Given the description of an element on the screen output the (x, y) to click on. 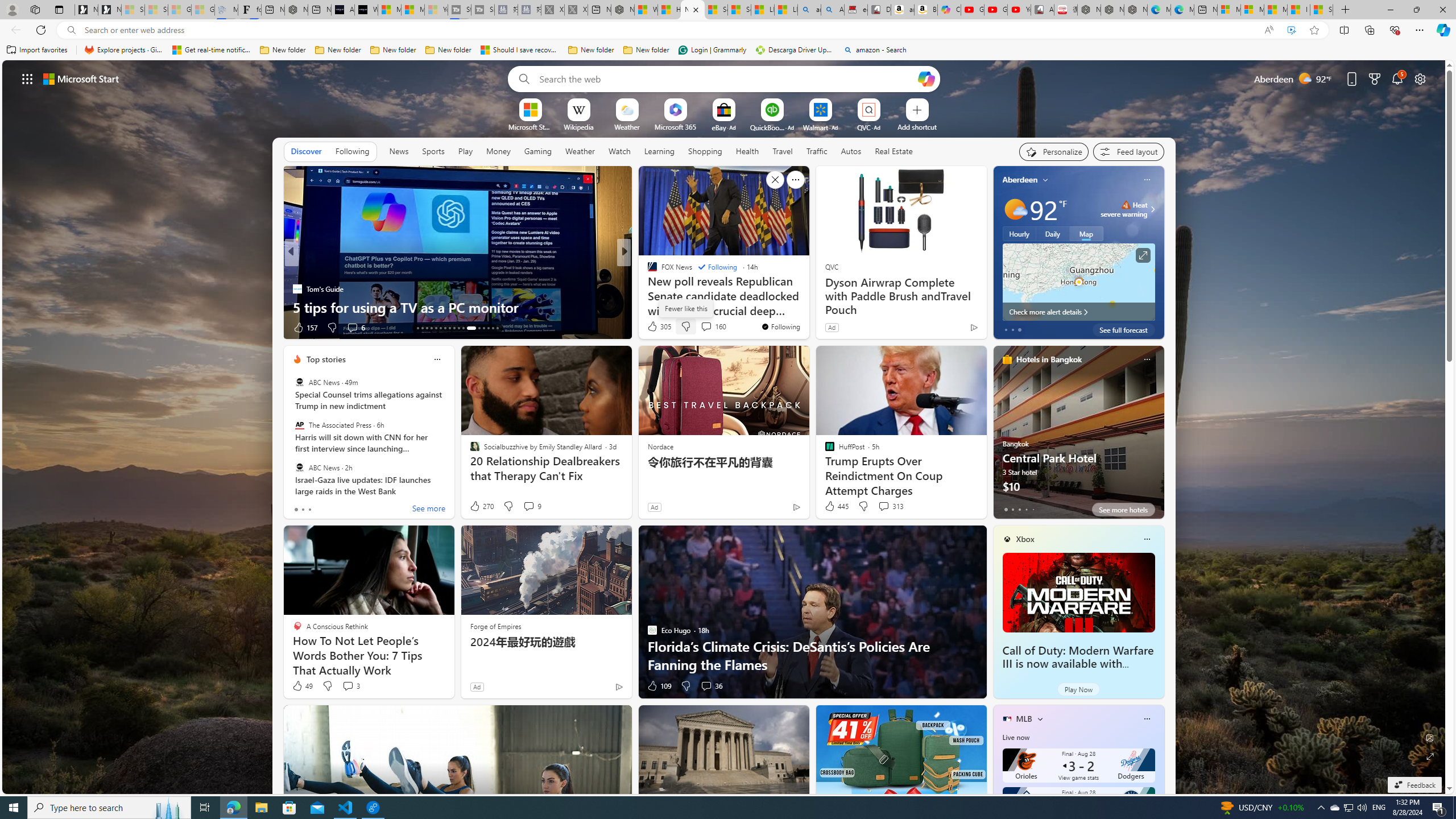
amazon.in/dp/B0CX59H5W7/?tag=gsmcom05-21 (902, 9)
Nordace Comino Totepack (1089, 9)
tab-0 (1005, 509)
Workspaces (34, 9)
Weather (579, 151)
View comments 160 Comment (712, 326)
Newsletter Sign Up (109, 9)
The Associated Press (299, 424)
Autos (850, 151)
Real Estate (893, 151)
Feed settings (1128, 151)
